Given the description of an element on the screen output the (x, y) to click on. 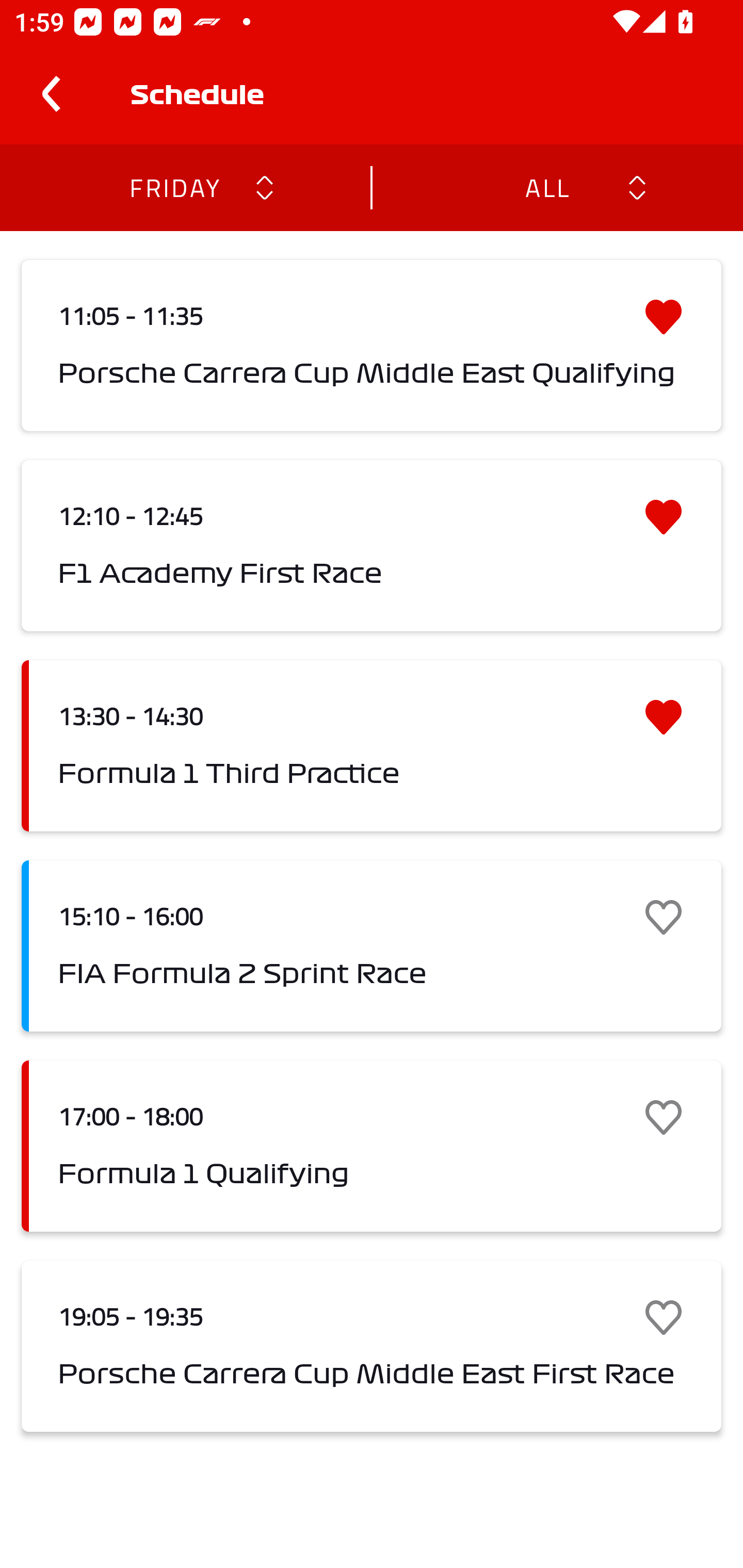
Navigate up (50, 93)
FRIDAY (174, 187)
ALL (546, 187)
12:10 - 12:45 F1 Academy First Race (371, 545)
13:30 - 14:30 Formula 1 Third Practice (371, 745)
15:10 - 16:00 FIA Formula 2 Sprint Race (371, 945)
17:00 - 18:00 Formula 1 Qualifying (371, 1145)
